Given the description of an element on the screen output the (x, y) to click on. 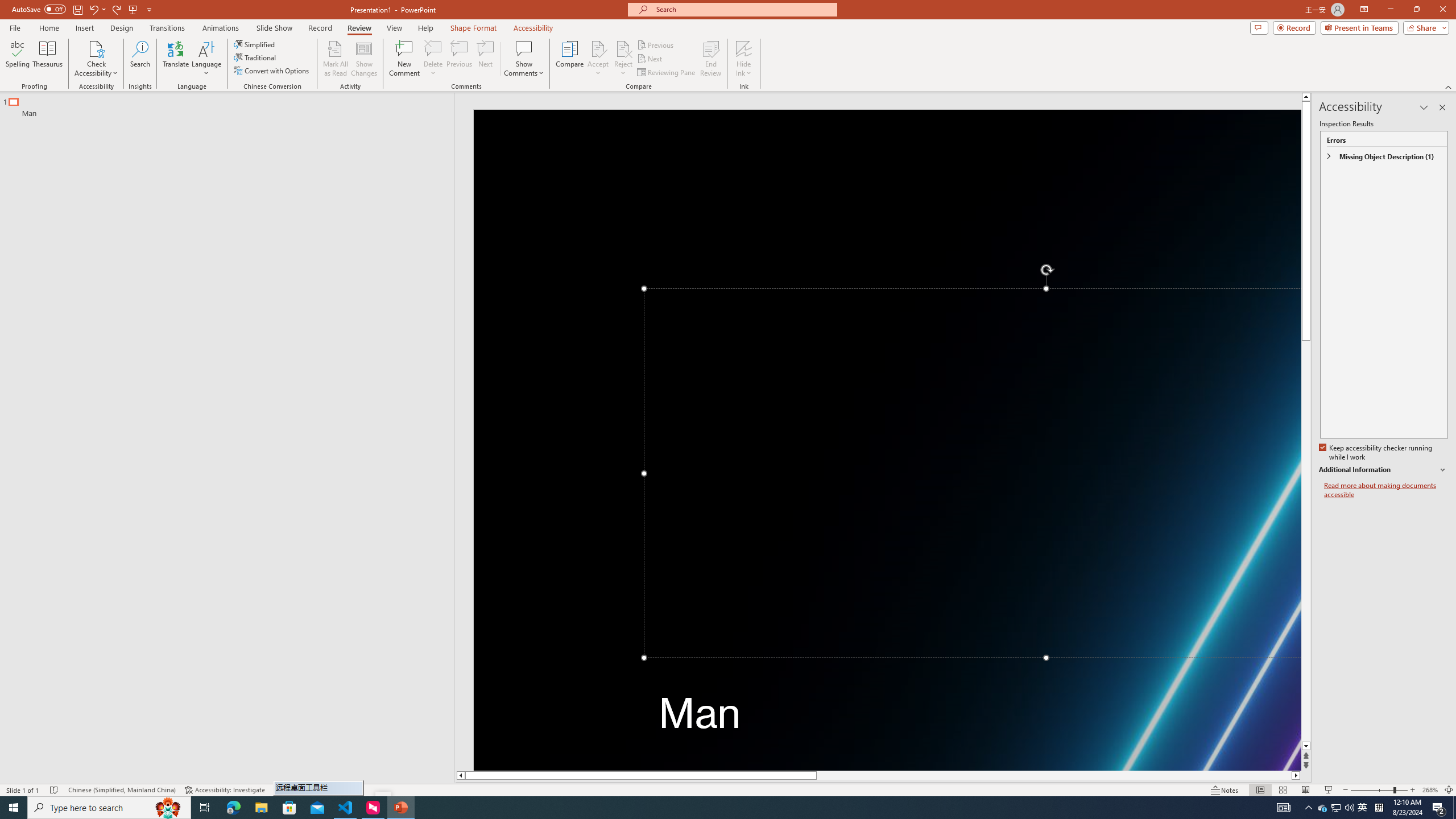
Language (206, 58)
Accept Change (598, 48)
Subtitle TextBox (973, 723)
Read more about making documents accessible (1385, 489)
Simplified (254, 44)
Next (649, 58)
